Given the description of an element on the screen output the (x, y) to click on. 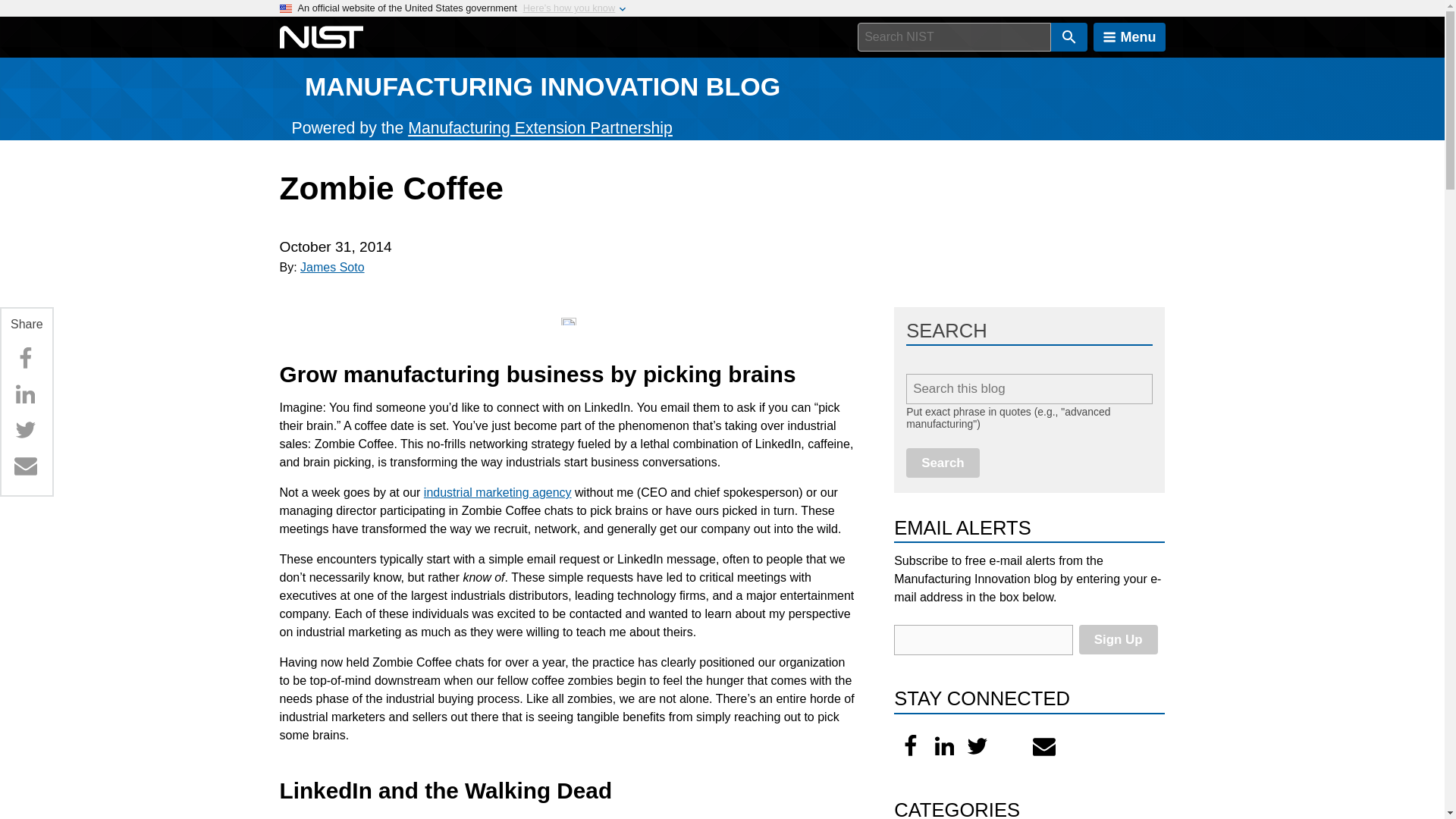
Youtube (1010, 745)
Menu (1129, 36)
LinkedIn (943, 745)
email (983, 639)
Email (25, 465)
Search (942, 462)
GovDelivery (1044, 745)
Twitter (25, 429)
National Institute of Standards and Technology (320, 36)
Linkedin (25, 394)
Facebook (910, 745)
Facebook (25, 358)
Sign Up (1117, 639)
